Given the description of an element on the screen output the (x, y) to click on. 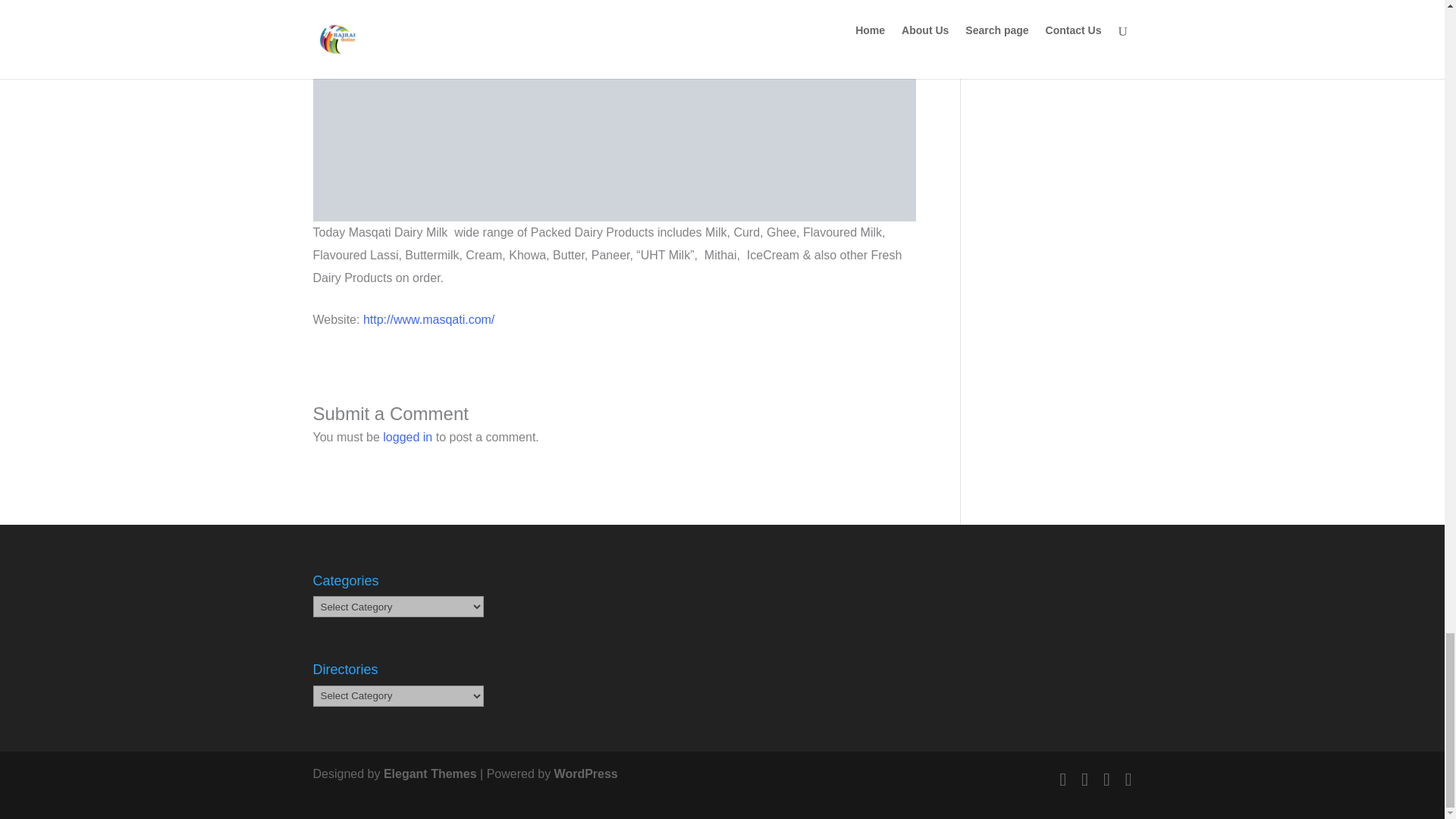
WordPress (585, 773)
Elegant Themes (430, 773)
Premium WordPress Themes (430, 773)
logged in (407, 436)
